Given the description of an element on the screen output the (x, y) to click on. 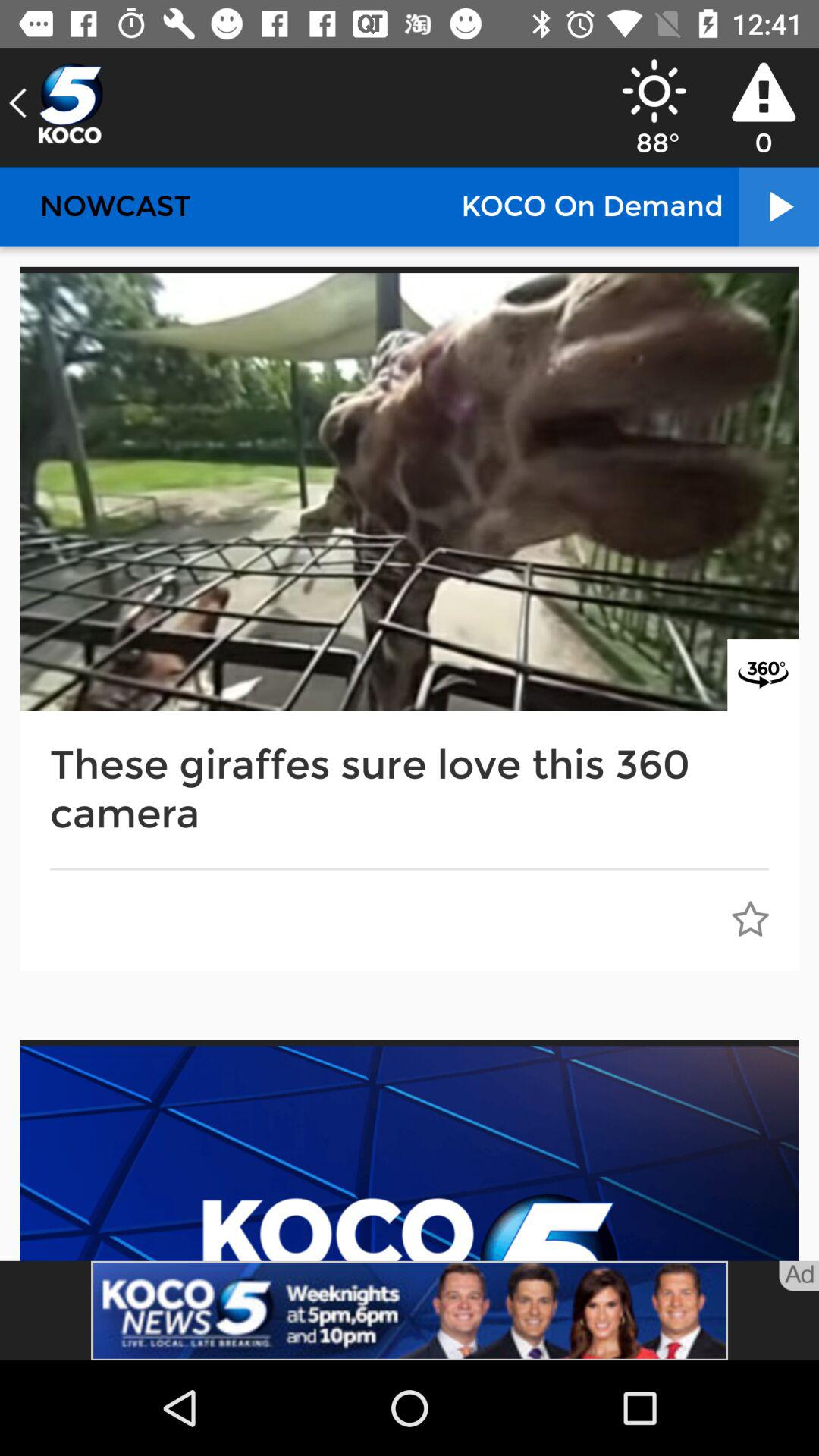
select the icon above play icon on top right corner of the page (763, 92)
goto ad (799, 1275)
click on the number 360 (763, 675)
select the image below nowcast (409, 492)
